Given the description of an element on the screen output the (x, y) to click on. 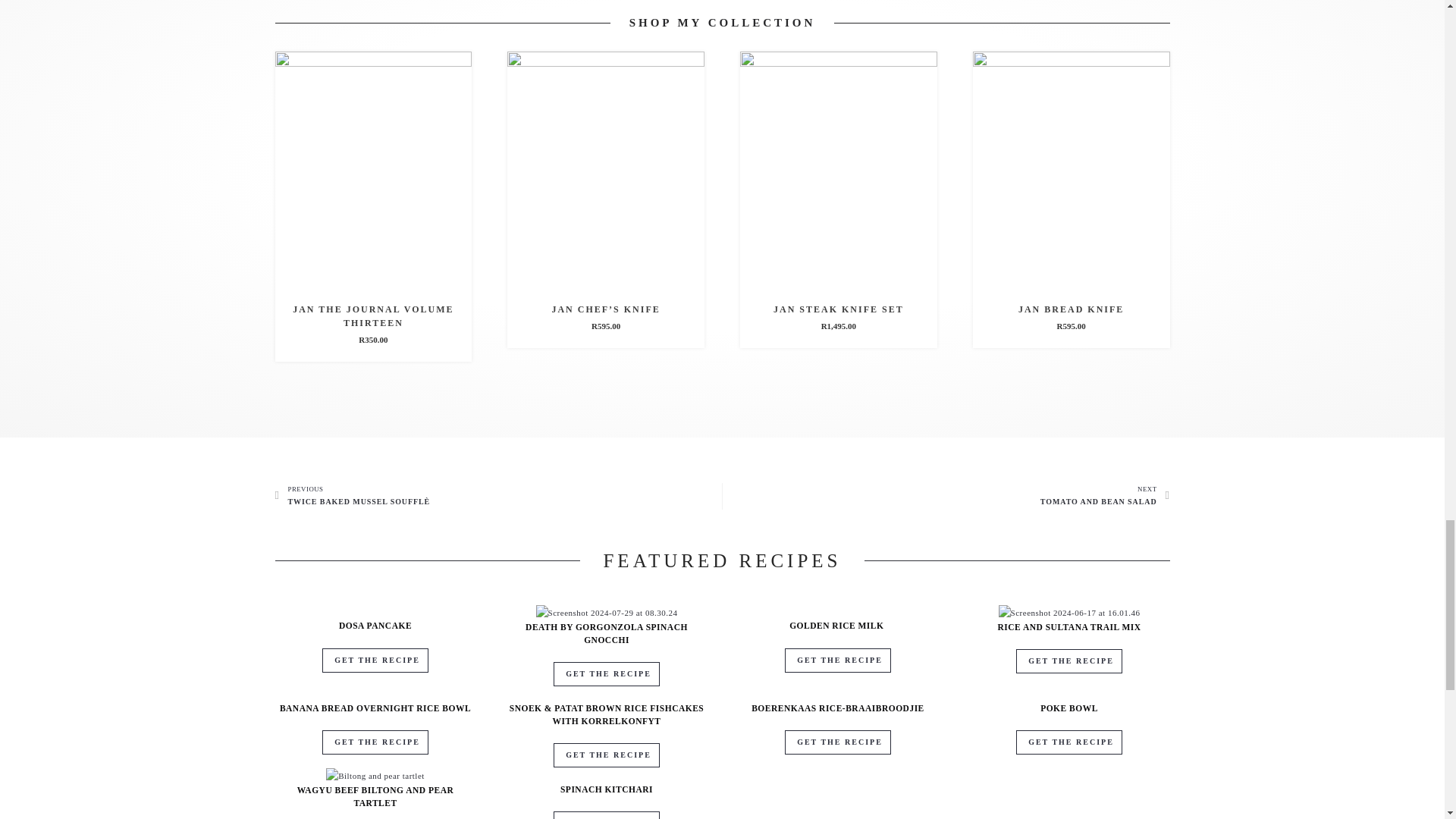
Death by Gorgonzola Spinach Gnocchi (606, 611)
Rice And Sultana Trail Mix (1069, 611)
Screenshot 2024-06-17 at 16.01.46 (1069, 612)
Screenshot 2024-07-29 at 08.30.24 (606, 612)
